Given the description of an element on the screen output the (x, y) to click on. 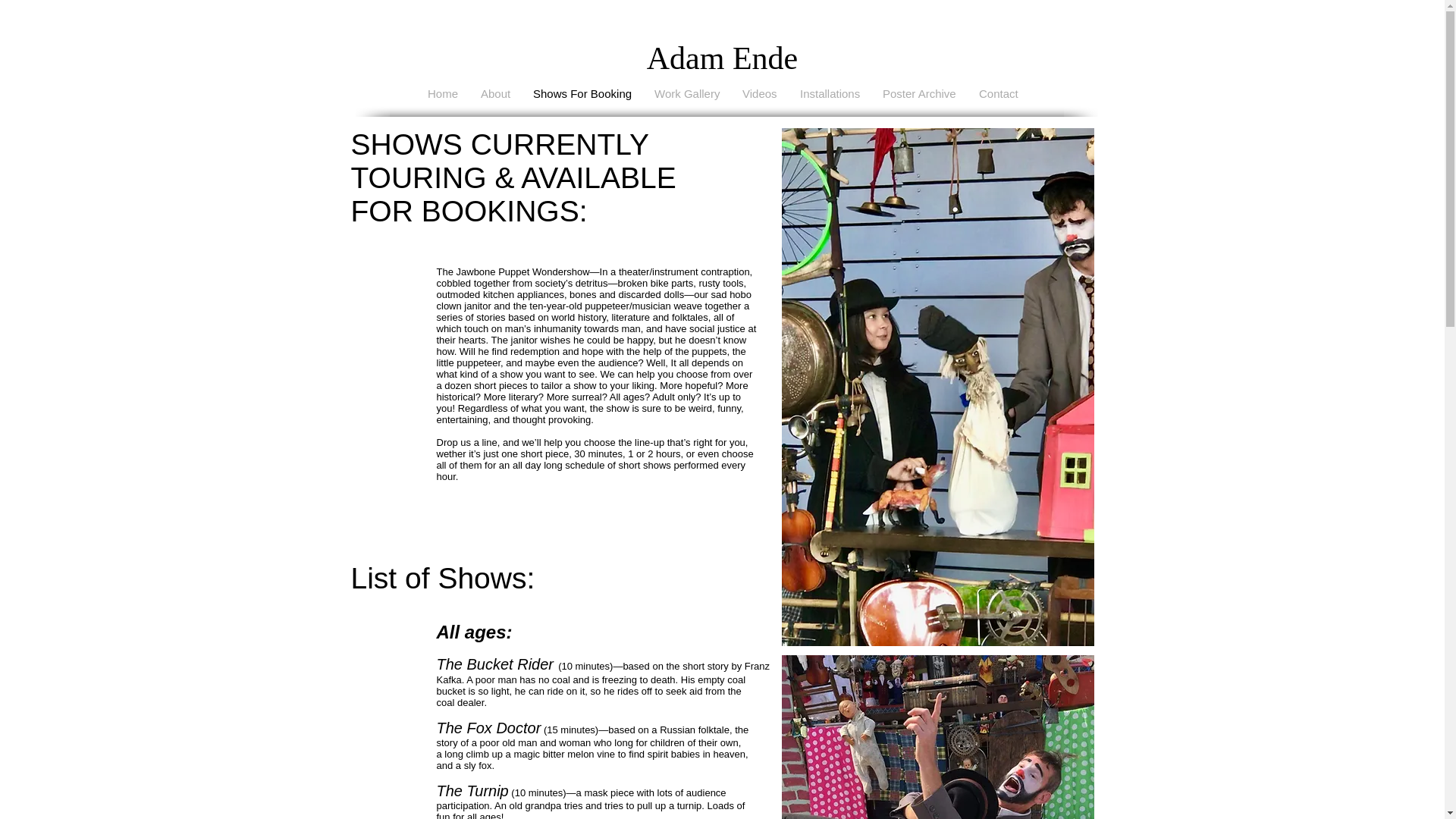
Adam Ende (721, 58)
Home (442, 93)
Contact (998, 93)
Work Gallery (686, 93)
Shows For Booking (582, 93)
Poster Archive (919, 93)
Videos (759, 93)
About (494, 93)
Installations (829, 93)
